Given the description of an element on the screen output the (x, y) to click on. 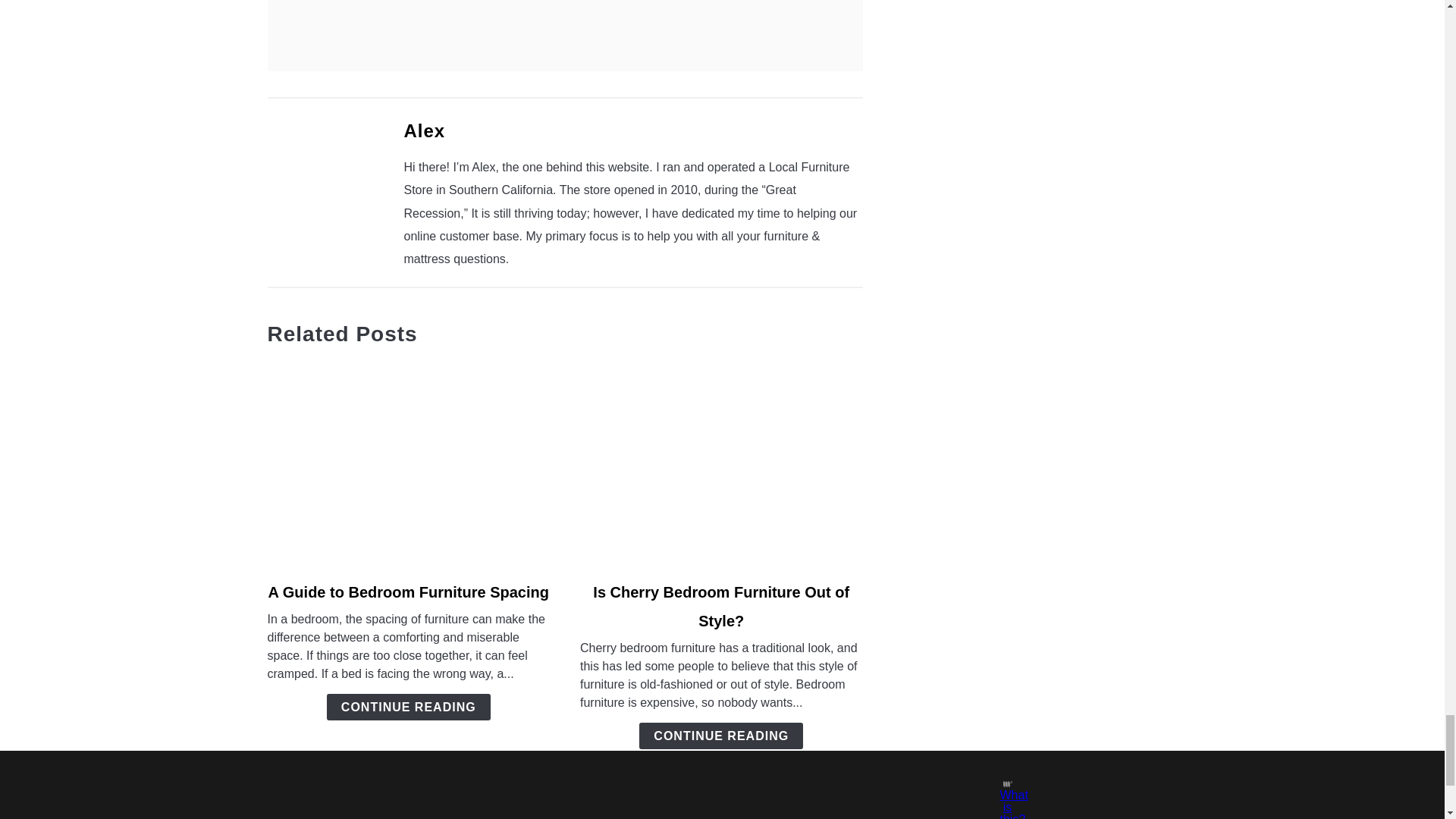
Is Cherry Bedroom Furniture Out of Style? (720, 606)
CONTINUE READING (408, 706)
link to Is Cherry Bedroom Furniture Out of Style? (721, 463)
A Guide to Bedroom Furniture Spacing (407, 591)
CONTINUE READING (721, 735)
Alex (424, 130)
link to A Guide to Bedroom Furniture Spacing (408, 463)
